Given the description of an element on the screen output the (x, y) to click on. 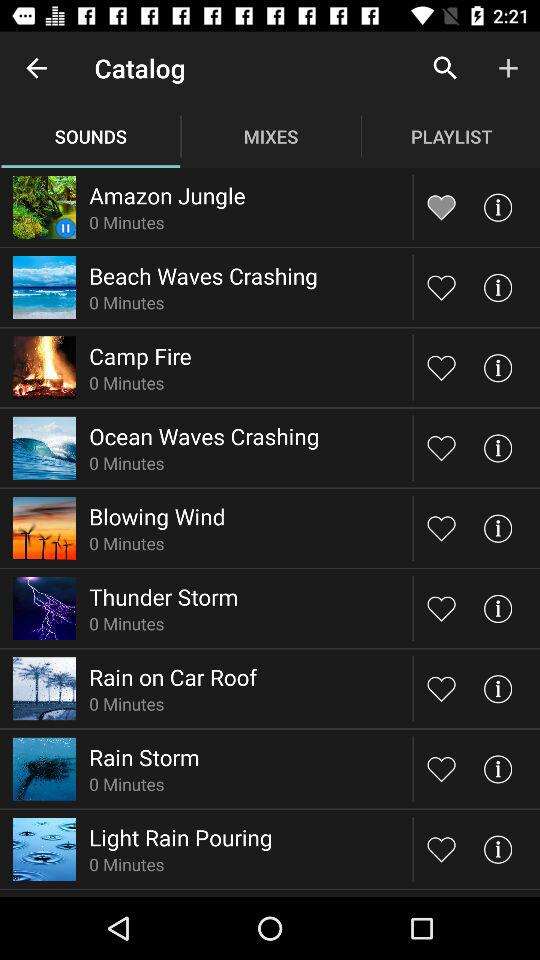
select information for ocean waves crashing (498, 447)
